Given the description of an element on the screen output the (x, y) to click on. 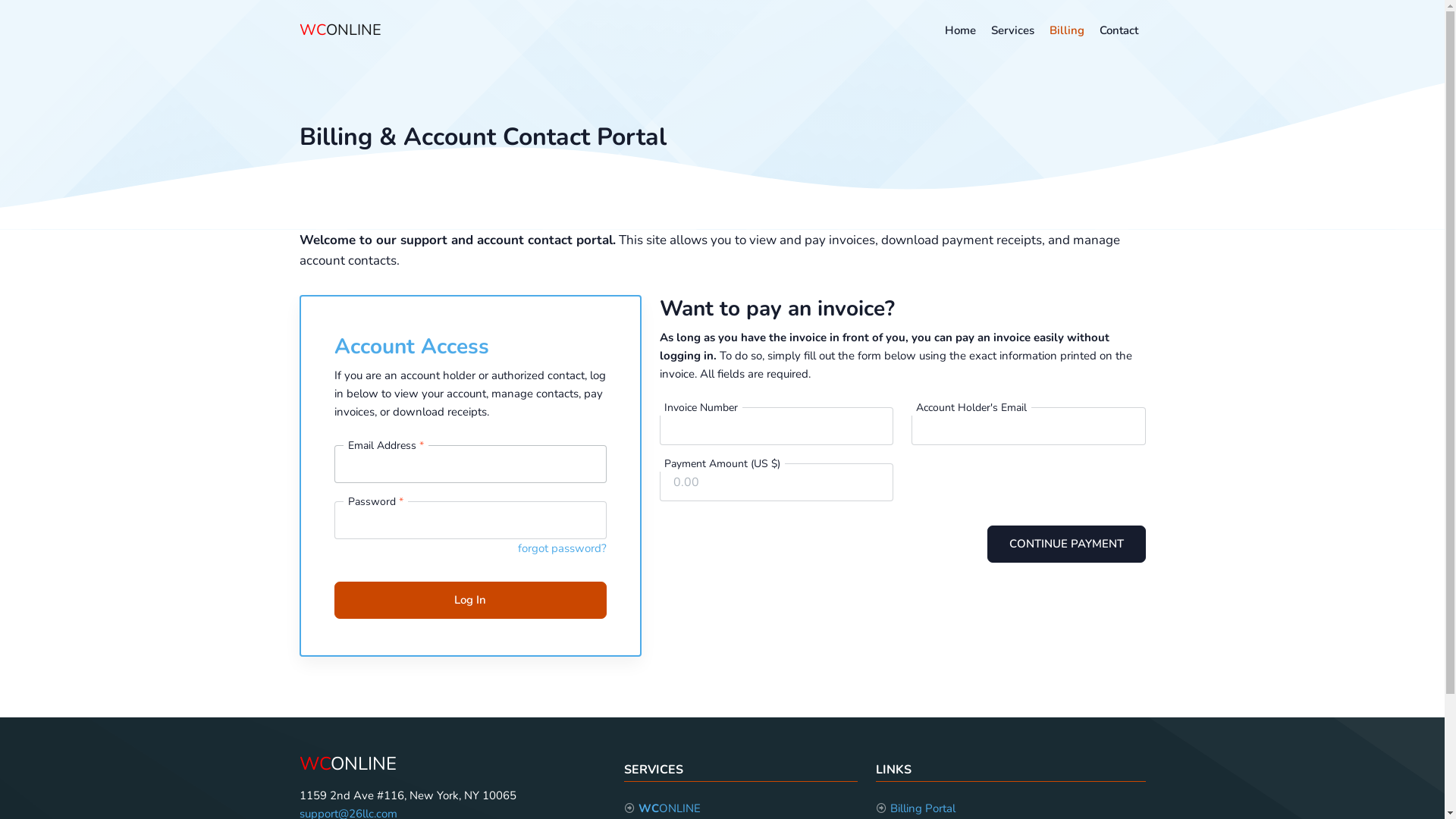
Billing Element type: text (1066, 30)
forgot password? Element type: text (561, 547)
Contact Element type: text (1118, 30)
Billing Portal Element type: text (922, 807)
Home Element type: text (959, 30)
WCONLINE Element type: text (346, 763)
WCONLINE Element type: text (339, 30)
CONTINUE PAYMENT Element type: text (1066, 543)
WCONLINE Element type: text (669, 807)
Log In Element type: text (469, 599)
Services Element type: text (1011, 30)
